Given the description of an element on the screen output the (x, y) to click on. 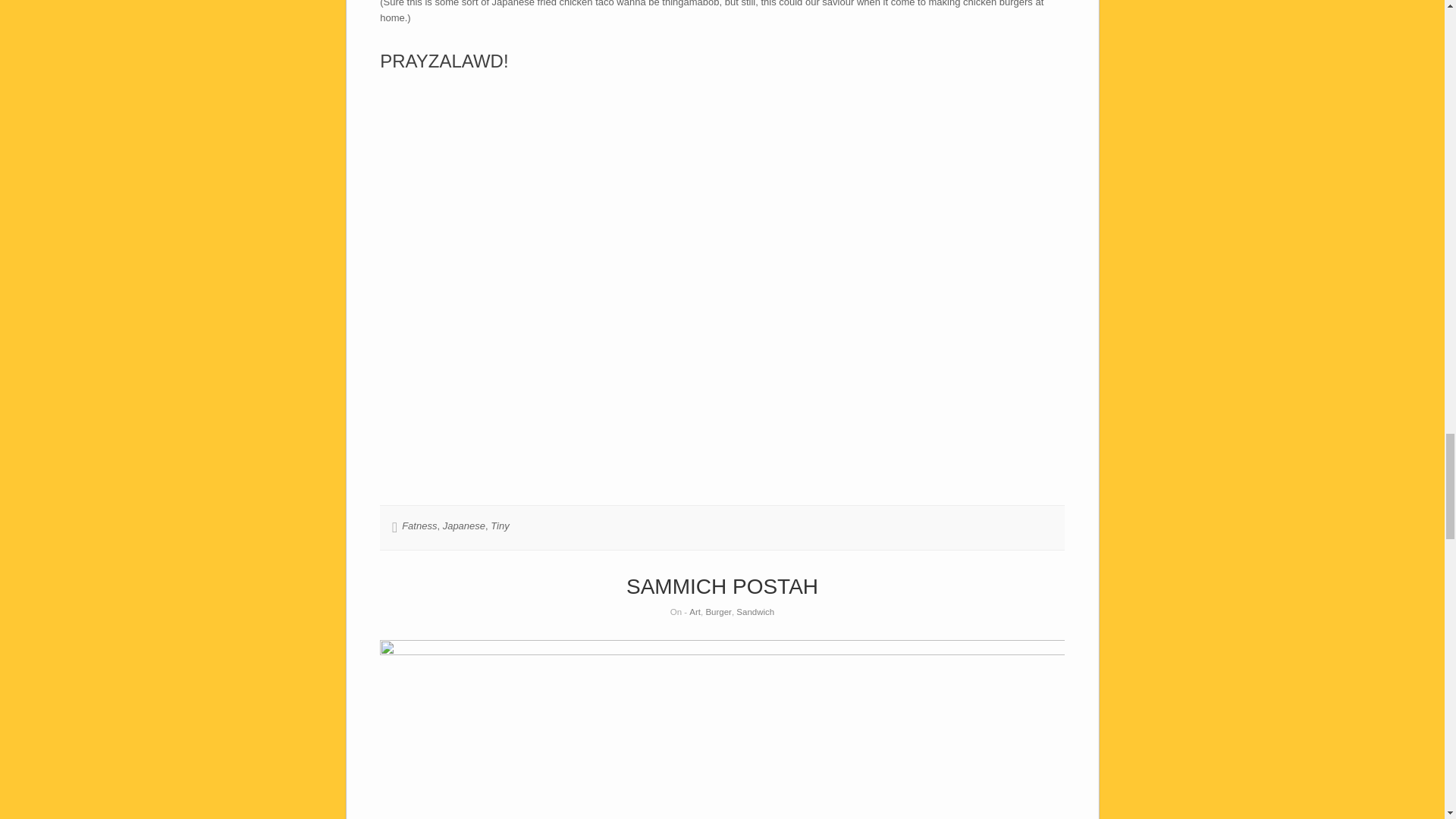
Tiny (499, 525)
Fatness (418, 525)
Japanese (463, 525)
